Given the description of an element on the screen output the (x, y) to click on. 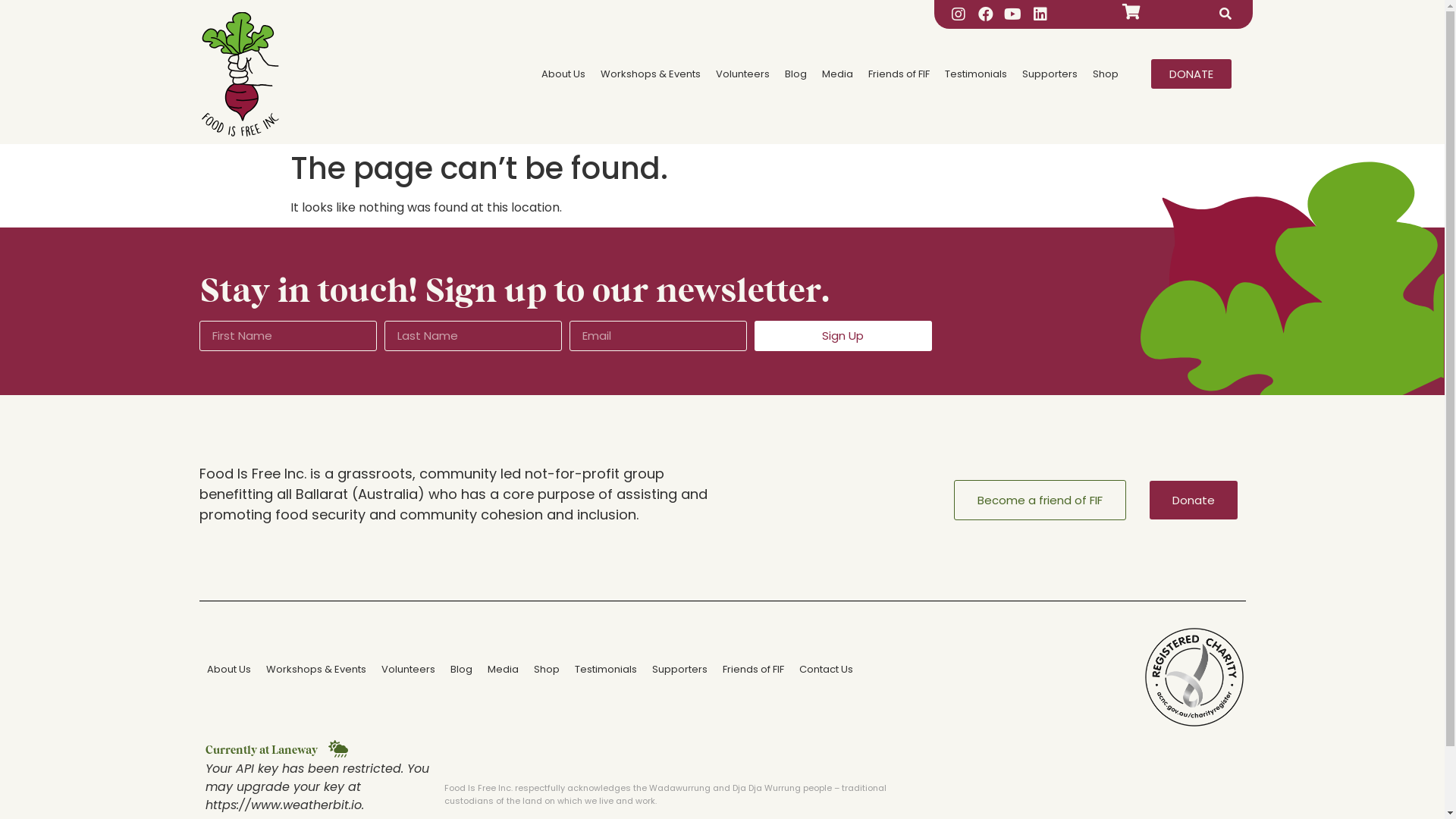
Contact Us Element type: text (825, 669)
Media Element type: text (837, 73)
Supporters Element type: text (1049, 73)
Workshops & Events Element type: text (650, 73)
Workshops & Events Element type: text (315, 669)
Donate Element type: text (1193, 499)
Shop Element type: text (546, 669)
Volunteers Element type: text (407, 669)
Sign Up Element type: text (842, 335)
Shop Element type: text (1105, 73)
Media Element type: text (502, 669)
About Us Element type: text (227, 669)
Friends of FIF Element type: text (898, 73)
Blog Element type: text (461, 669)
Friends of FIF Element type: text (752, 669)
DONATE Element type: text (1191, 73)
Volunteers Element type: text (742, 73)
About Us Element type: text (563, 73)
Become a friend of FIF Element type: text (1039, 500)
Supporters Element type: text (679, 669)
Testimonials Element type: text (975, 73)
Testimonials Element type: text (605, 669)
Blog Element type: text (795, 73)
